Given the description of an element on the screen output the (x, y) to click on. 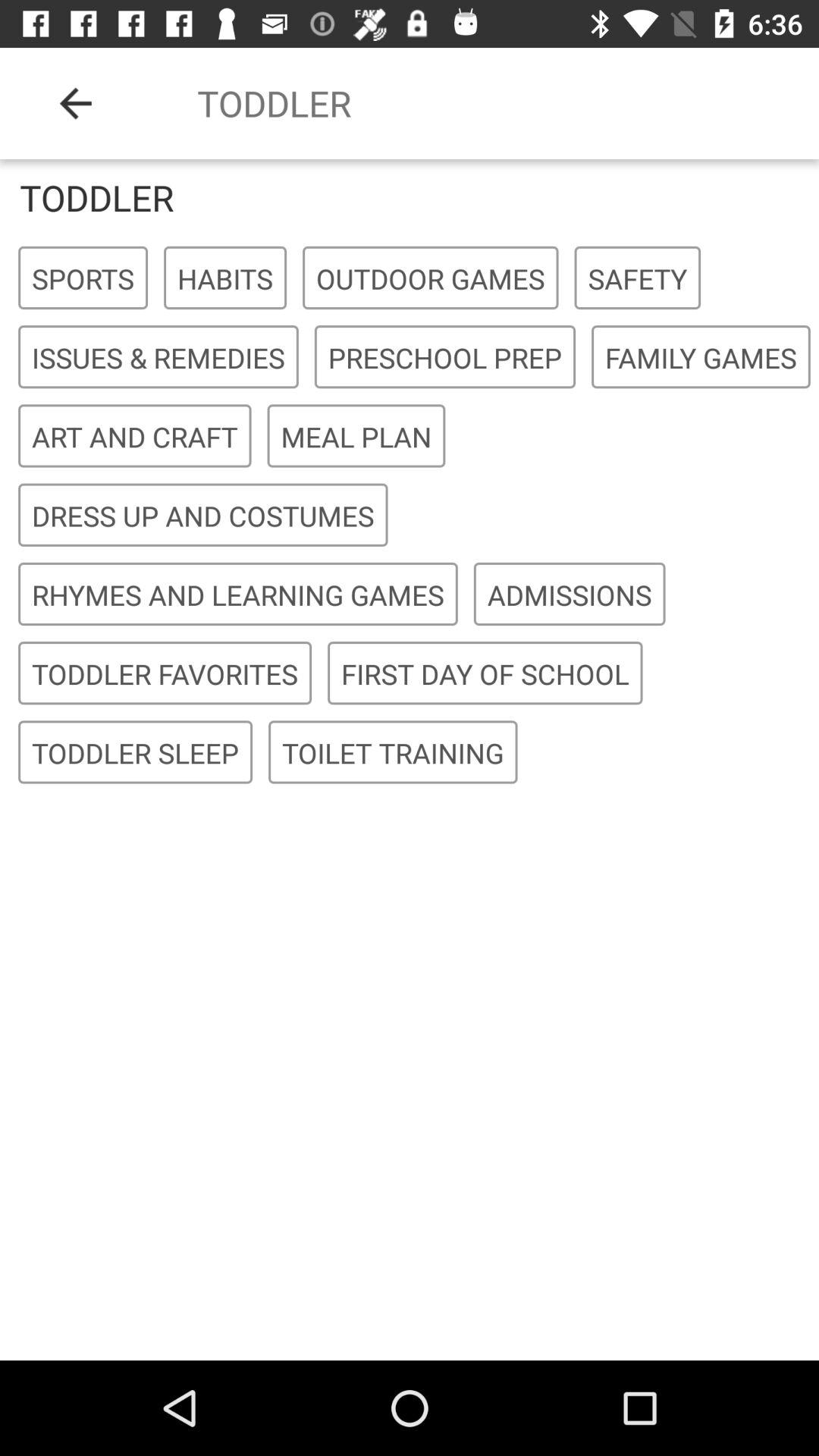
turn off the icon to the left of the preschool prep item (157, 357)
